Given the description of an element on the screen output the (x, y) to click on. 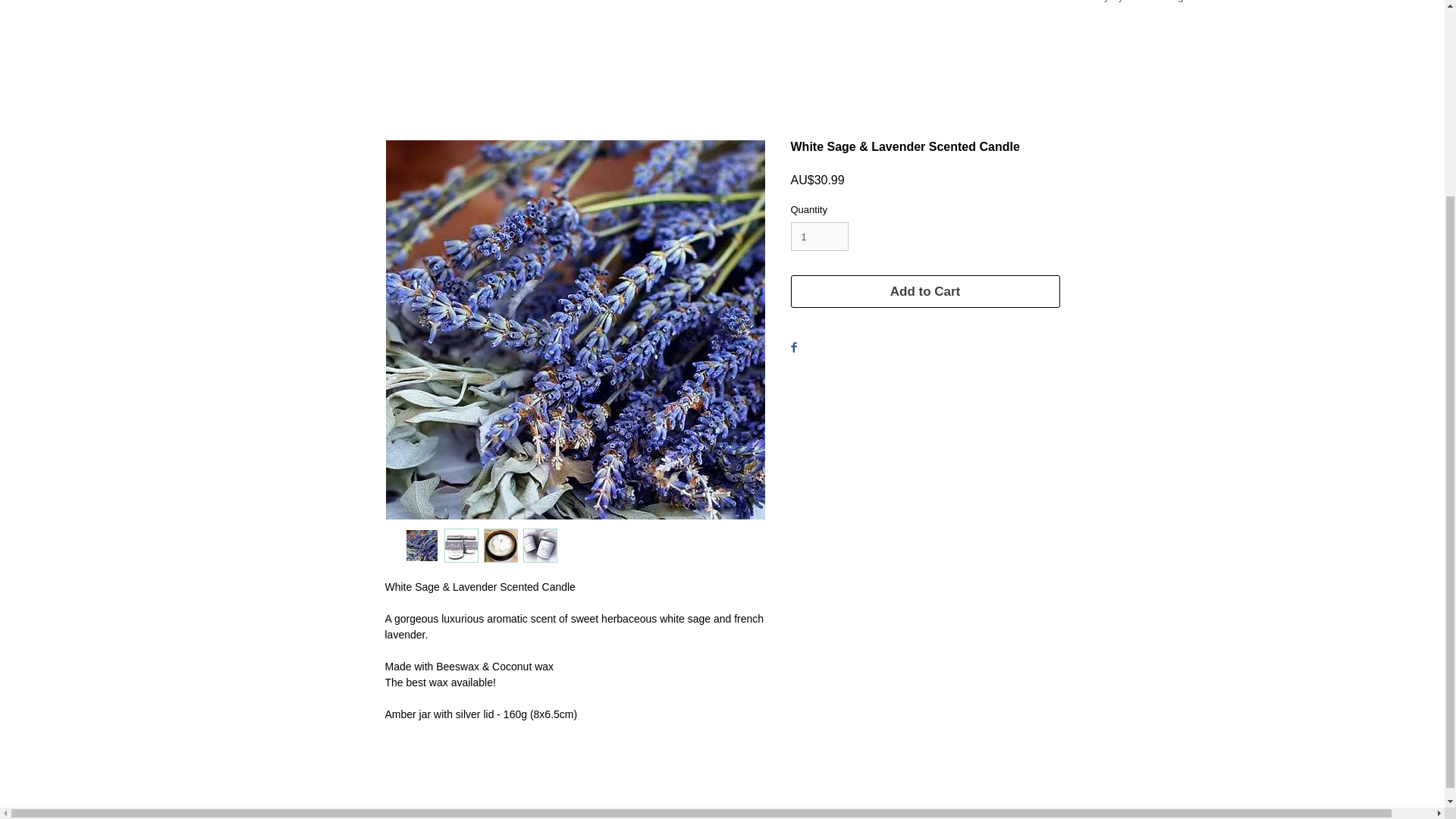
Add to Cart (924, 291)
Loyalty Rewards Program (1145, 6)
1 (818, 235)
HOME (257, 6)
